Given the description of an element on the screen output the (x, y) to click on. 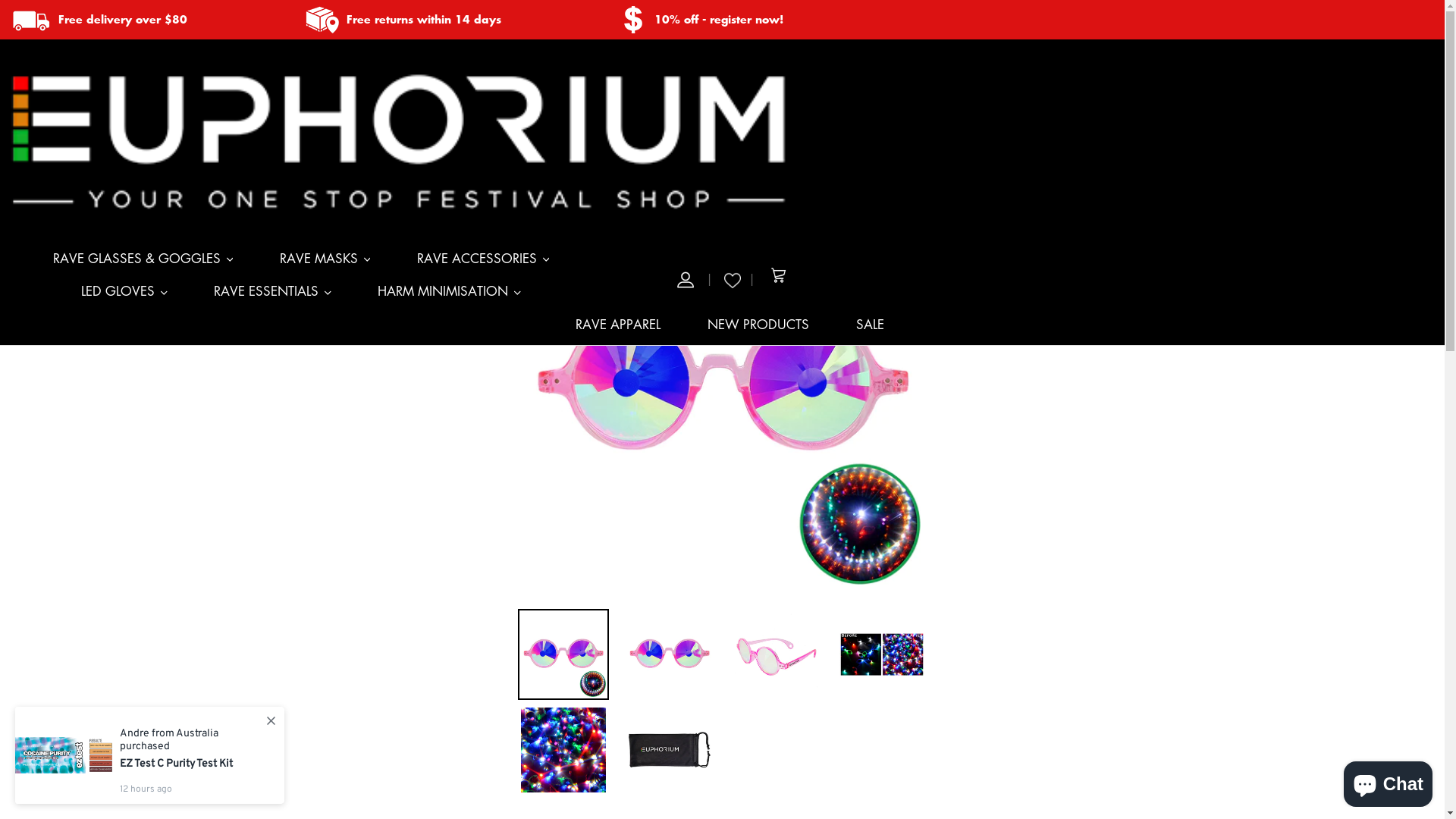
10% off - register now! Element type: text (718, 19)
Cart Element type: text (778, 279)
RAVE APPAREL Element type: text (617, 328)
SALE Element type: text (870, 328)
Shopify online store chat Element type: hover (1388, 780)
NEW PRODUCTS Element type: text (758, 328)
